Given the description of an element on the screen output the (x, y) to click on. 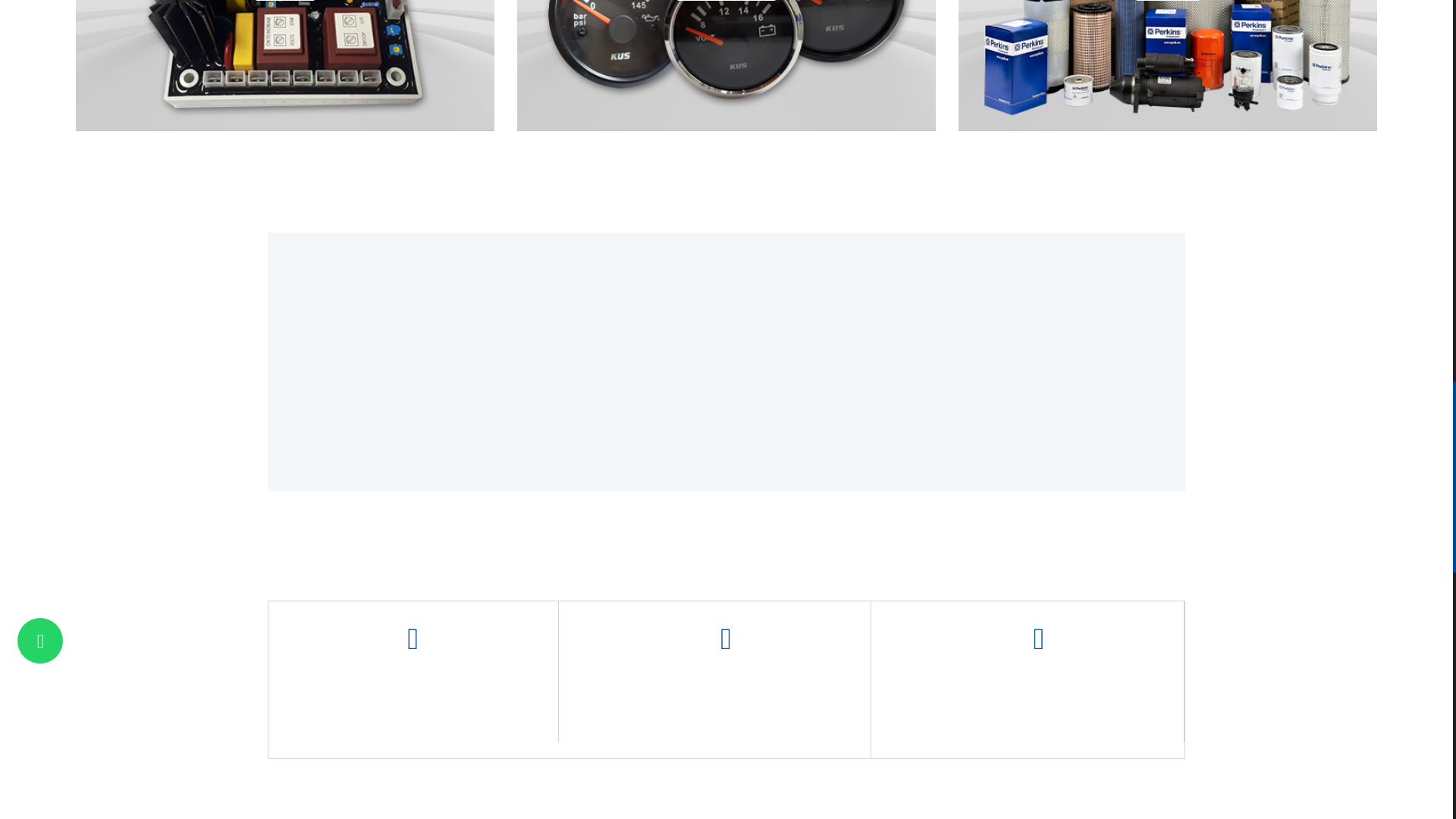
Next (1189, 361)
Previous (260, 361)
